Given the description of an element on the screen output the (x, y) to click on. 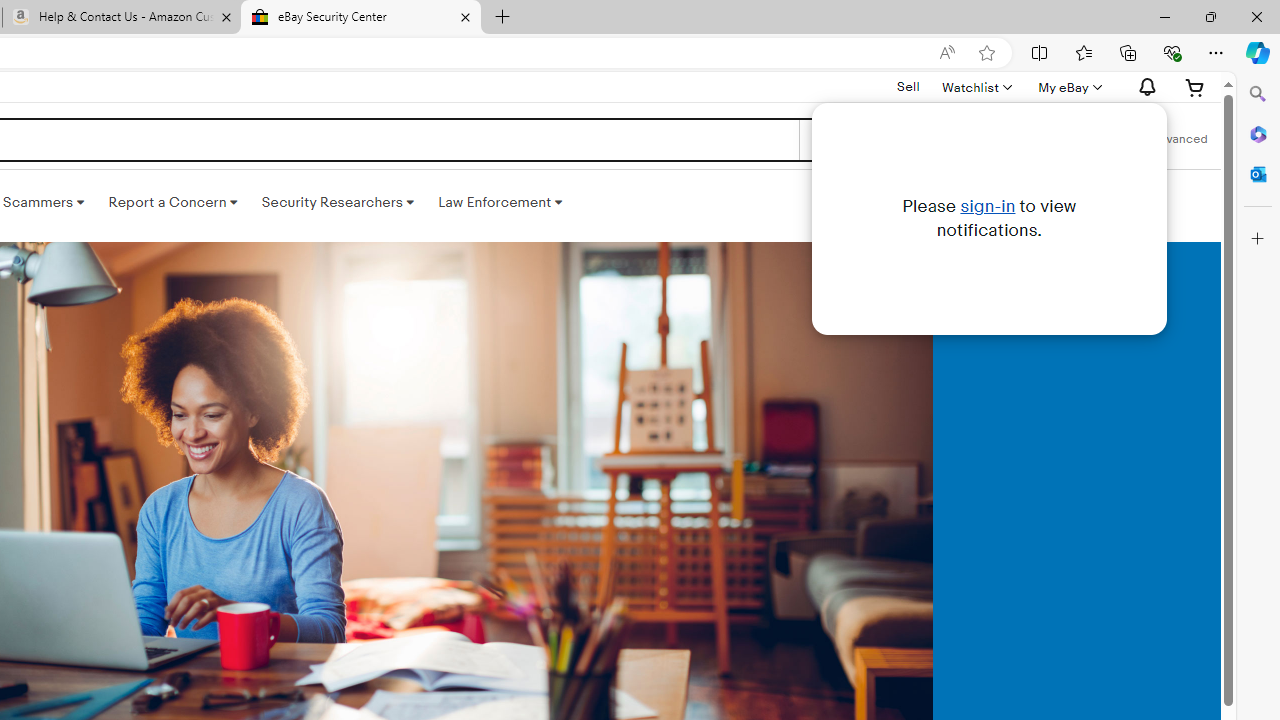
Please sign-in to view notifications. (1144, 87)
My eBayExpand My eBay (1068, 87)
Report a Concern  (173, 202)
Report a Concern  (173, 202)
Expand Cart (1195, 87)
